Given the description of an element on the screen output the (x, y) to click on. 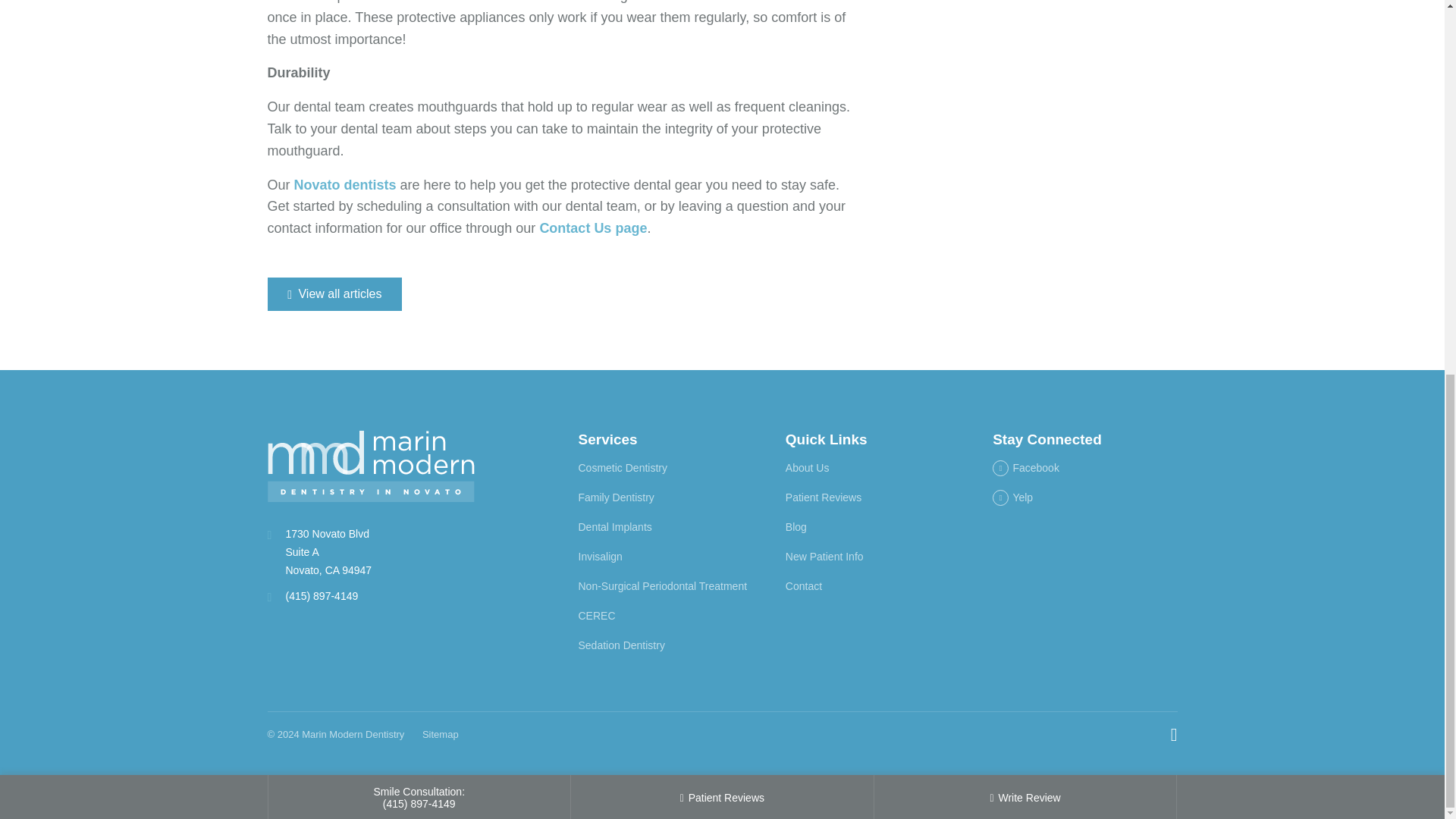
View all articles (333, 294)
Contact Us page (592, 227)
Novato dentists (345, 184)
Patient Reviews (823, 497)
Non-Surgical Periodontal Treatment (662, 585)
CEREC (596, 615)
yelp (1012, 497)
Dental Implants (614, 526)
Cosmetic Dentistry (622, 467)
Blog (796, 526)
About Us (807, 467)
Sedation Dentistry (620, 645)
Invisalign (599, 556)
facebook (1025, 467)
Family Dentistry (615, 497)
